Given the description of an element on the screen output the (x, y) to click on. 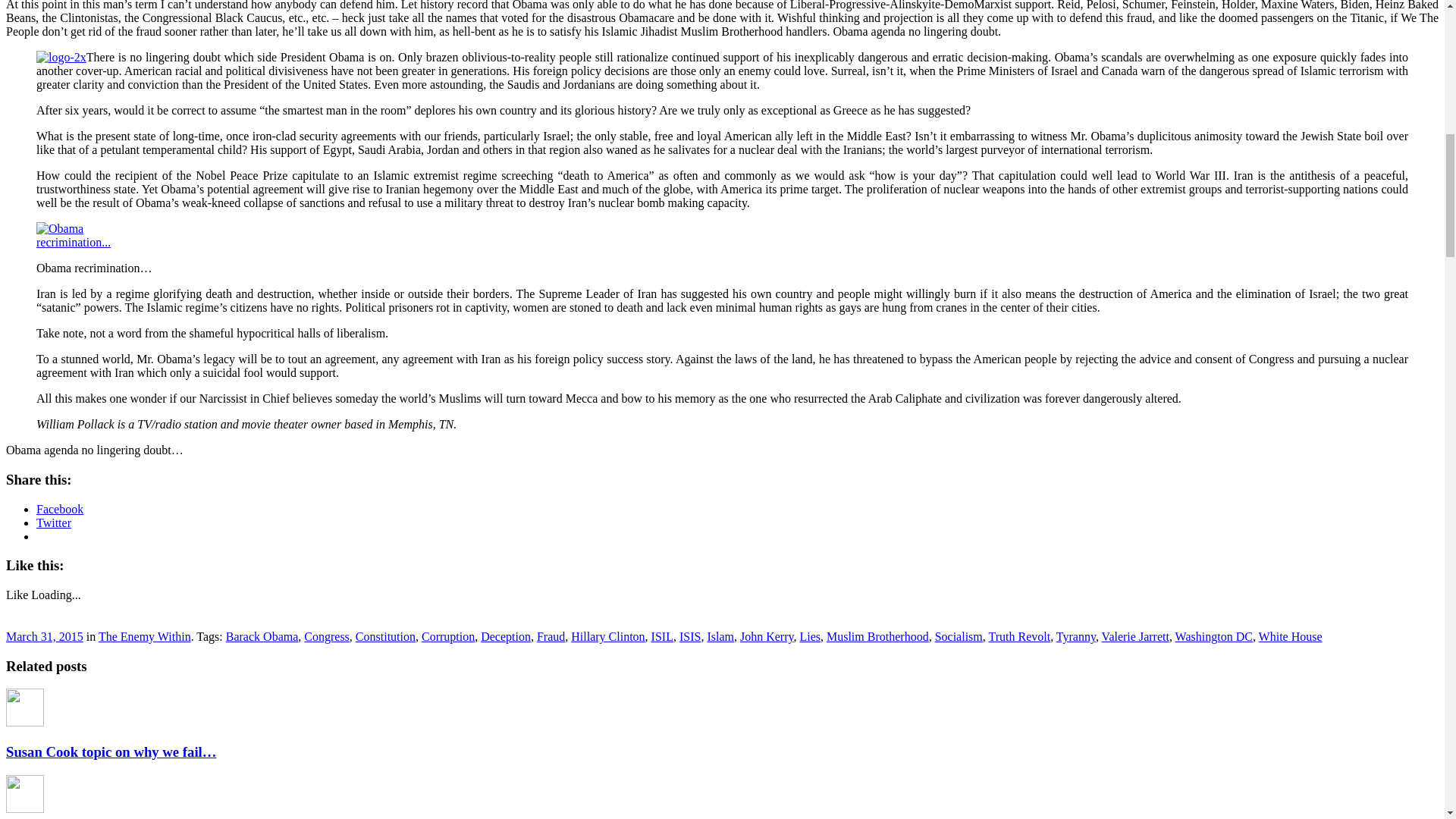
Click to share on Facebook (59, 508)
Hillary Clinton (607, 635)
ISIL (661, 635)
Corruption (448, 635)
The Enemy Within (144, 635)
Constitution (384, 635)
Fraud (550, 635)
Facebook (59, 508)
Barack Obama (261, 635)
Click to share on Twitter (53, 521)
Twitter (53, 521)
Congress (326, 635)
March 31, 2015 (43, 635)
Deception (505, 635)
